Given the description of an element on the screen output the (x, y) to click on. 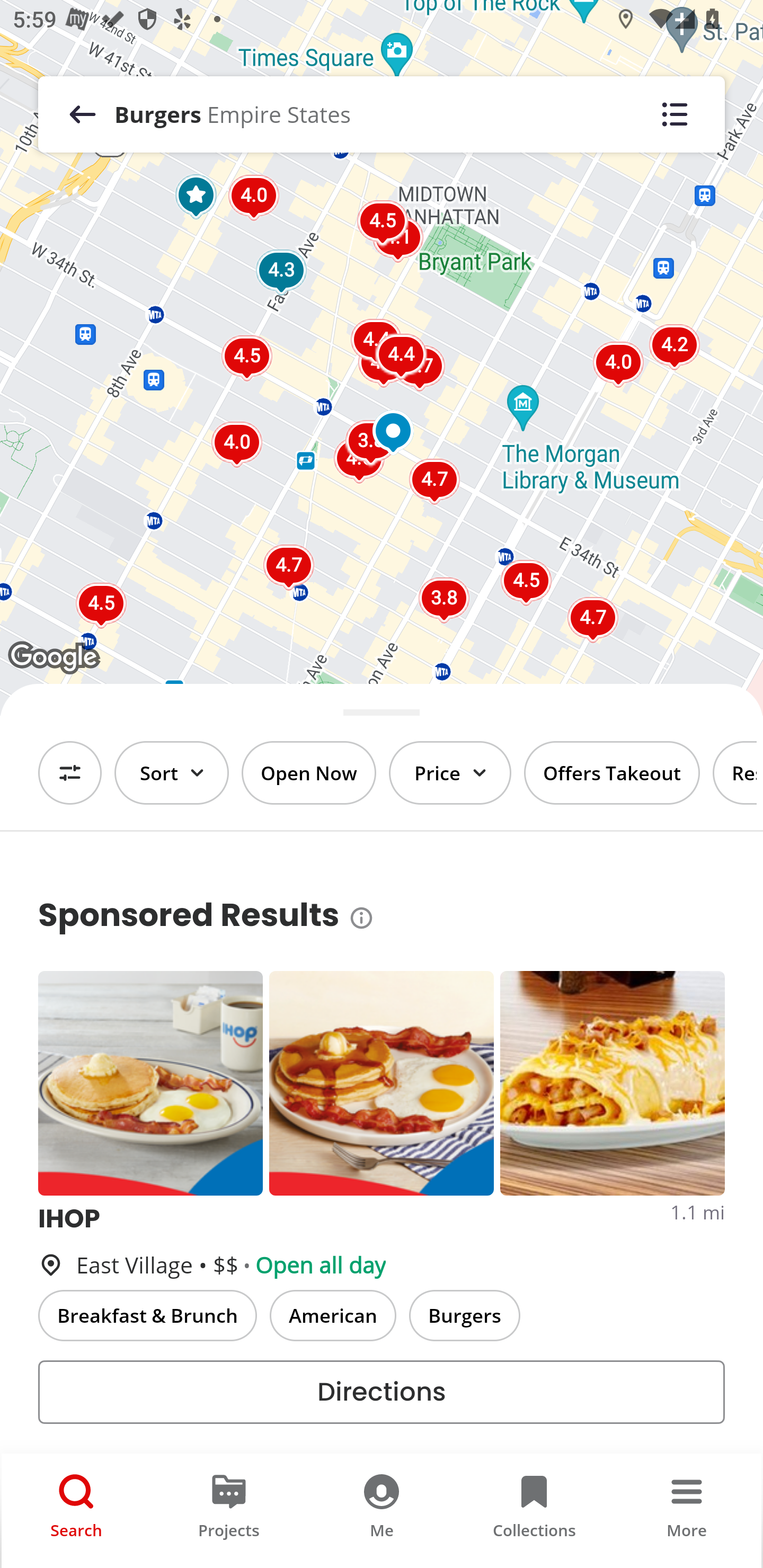
IHOP 1.1 mi East Village • $$  •  Open all day (381, 1241)
